Given the description of an element on the screen output the (x, y) to click on. 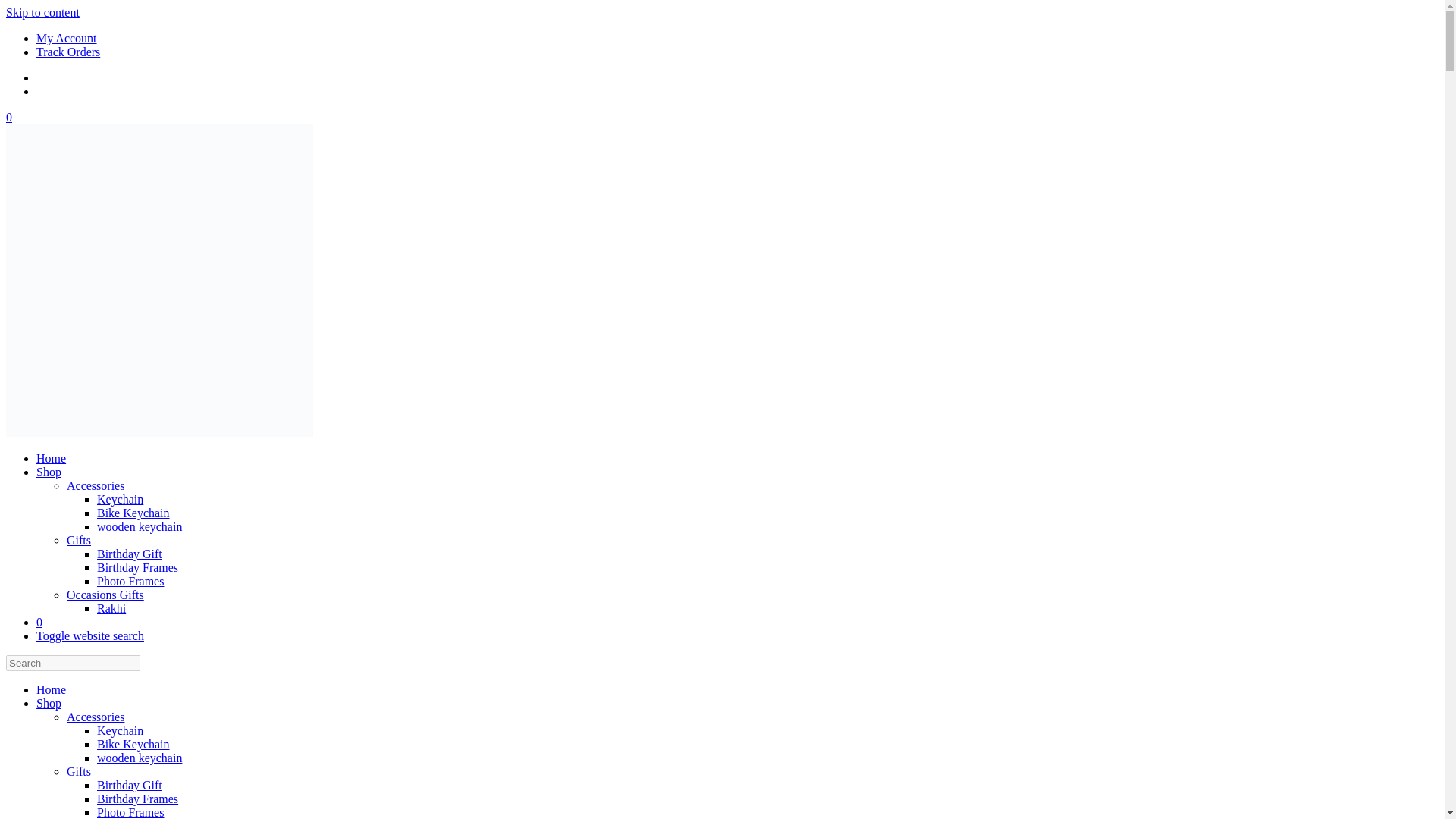
Photo Frames (130, 812)
0 (8, 116)
Keychain (119, 499)
Skip to content (42, 11)
0 (39, 621)
Bike Keychain (133, 744)
wooden keychain (139, 526)
Birthday Frames (137, 798)
Home (50, 458)
Toggle website search (90, 635)
Accessories (94, 716)
Birthday Gift (129, 784)
Gifts (78, 771)
Birthday Gift (129, 553)
Track Orders (68, 51)
